Given the description of an element on the screen output the (x, y) to click on. 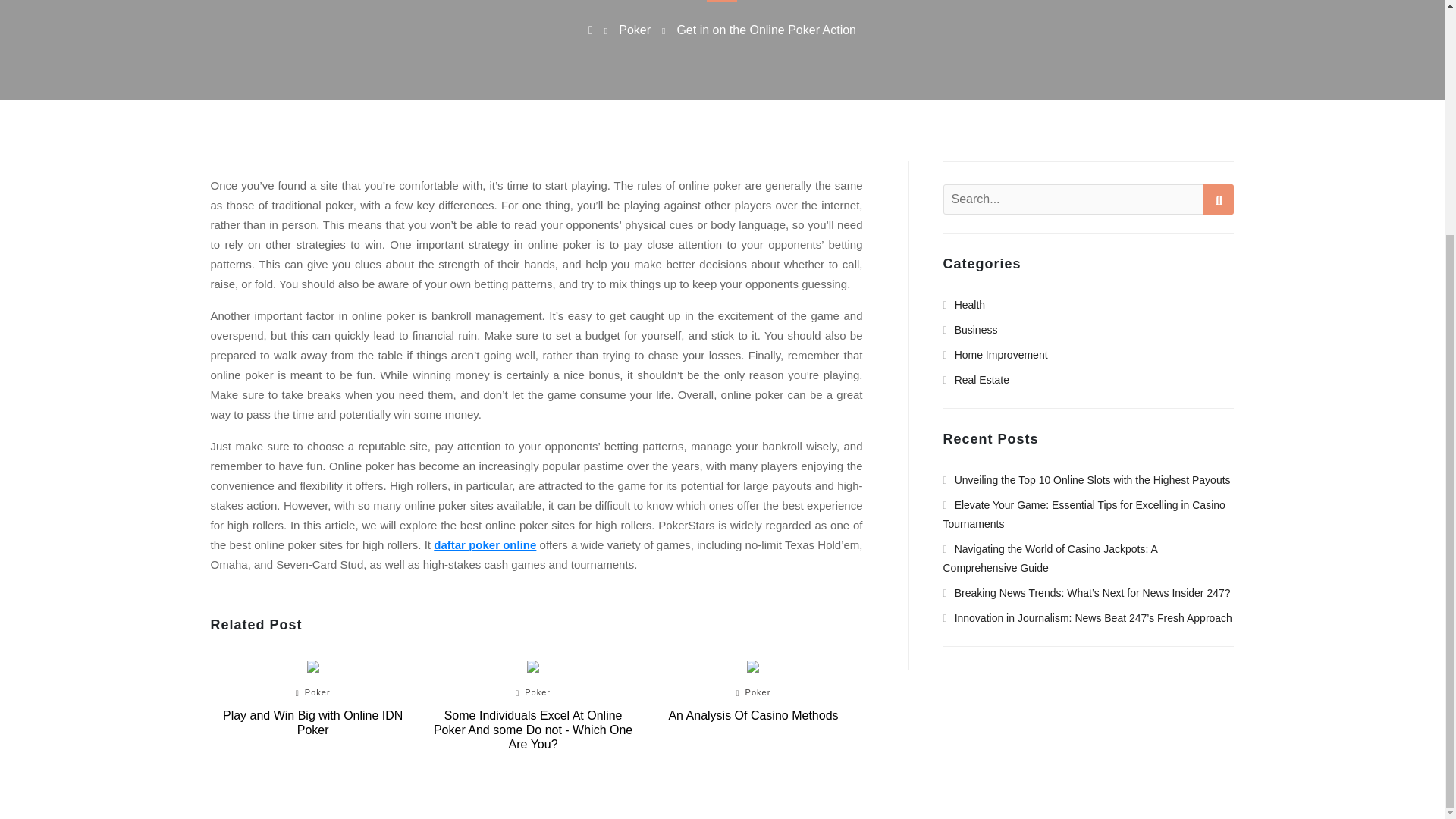
An Analysis Of Casino Methods (753, 715)
Search (1218, 199)
daftar poker online (484, 544)
Play and Win Big with Online IDN Poker (312, 722)
Poker (758, 691)
Unveiling the Top 10 Online Slots with the Highest Payouts (1086, 480)
Poker (317, 691)
Business (970, 329)
Real Estate (976, 379)
